Given the description of an element on the screen output the (x, y) to click on. 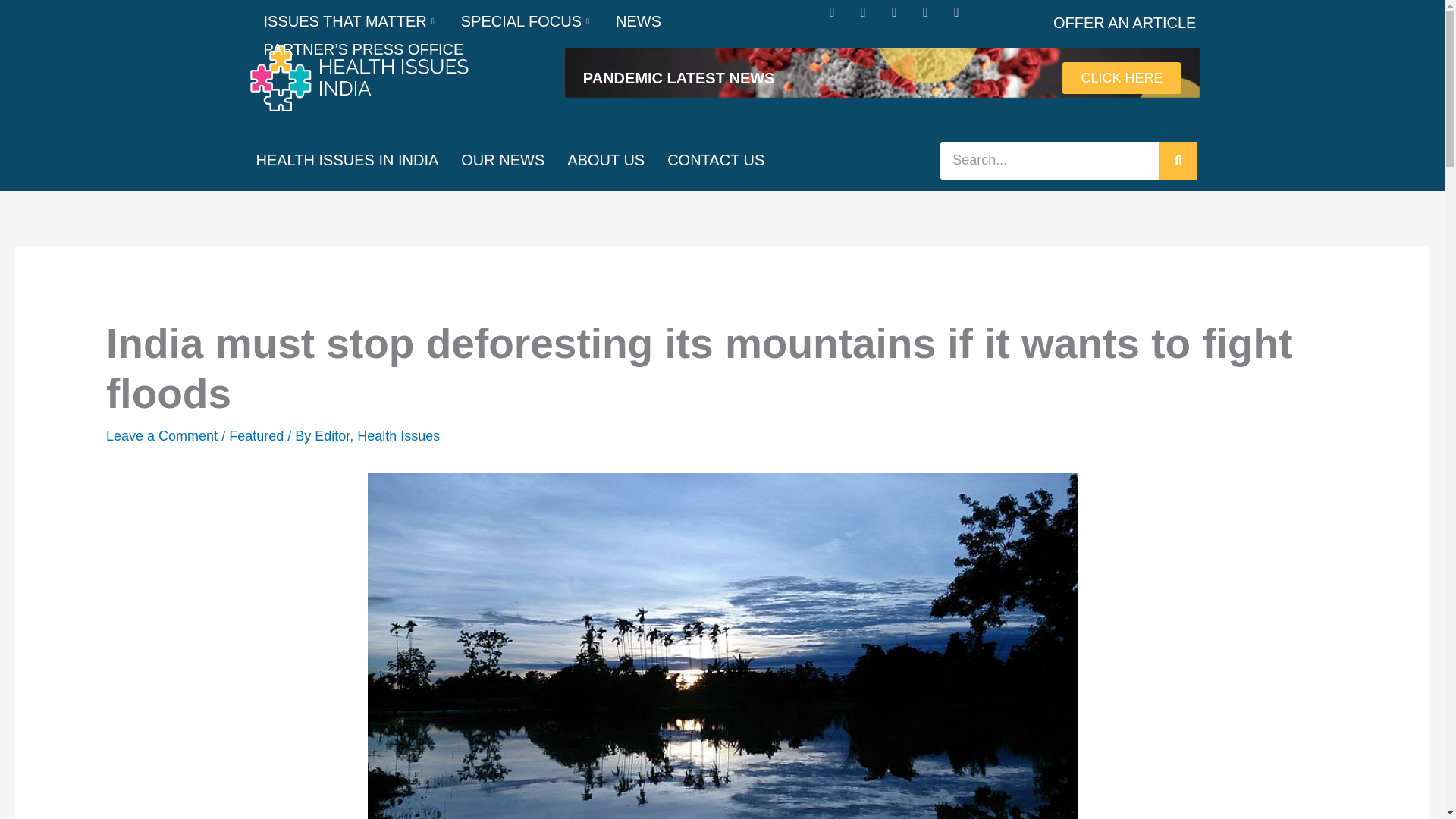
View all posts by Editor, Health Issues (376, 435)
Twitter (870, 18)
Facebook (838, 18)
SPECIAL FOCUS (526, 21)
NEWS (638, 21)
ISSUES THAT MATTER (349, 21)
Youtube (962, 18)
Linkedin (932, 18)
Instagram (900, 18)
